Given the description of an element on the screen output the (x, y) to click on. 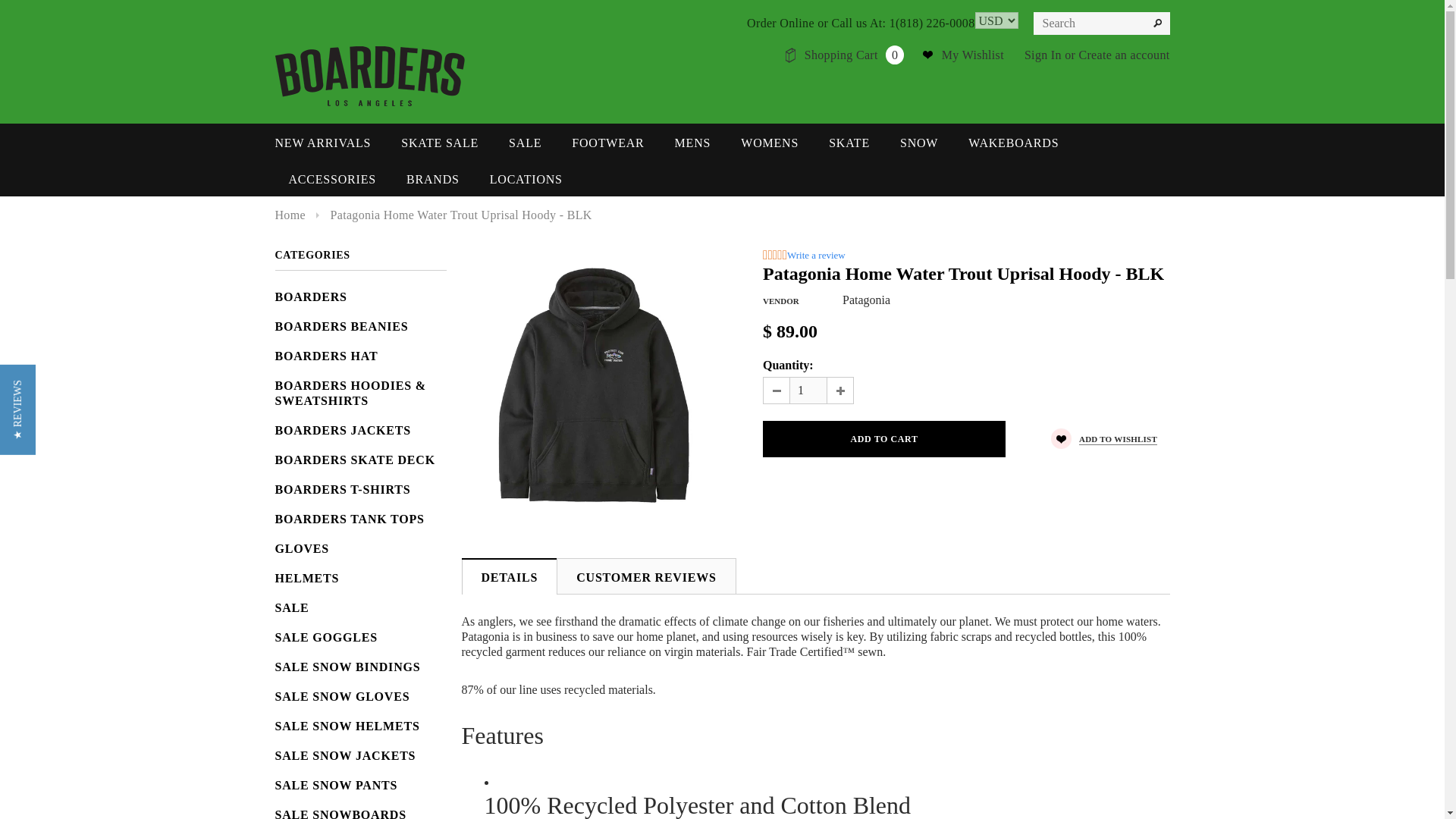
Back to the frontpage (289, 214)
Add to Cart (884, 438)
Shopping Cart 0 (854, 54)
FOOTWEAR (607, 142)
1 (808, 389)
Sign In (1043, 54)
Search (1158, 23)
My Wishlist (973, 54)
Search (1158, 23)
NEW ARRIVALS (323, 142)
